Given the description of an element on the screen output the (x, y) to click on. 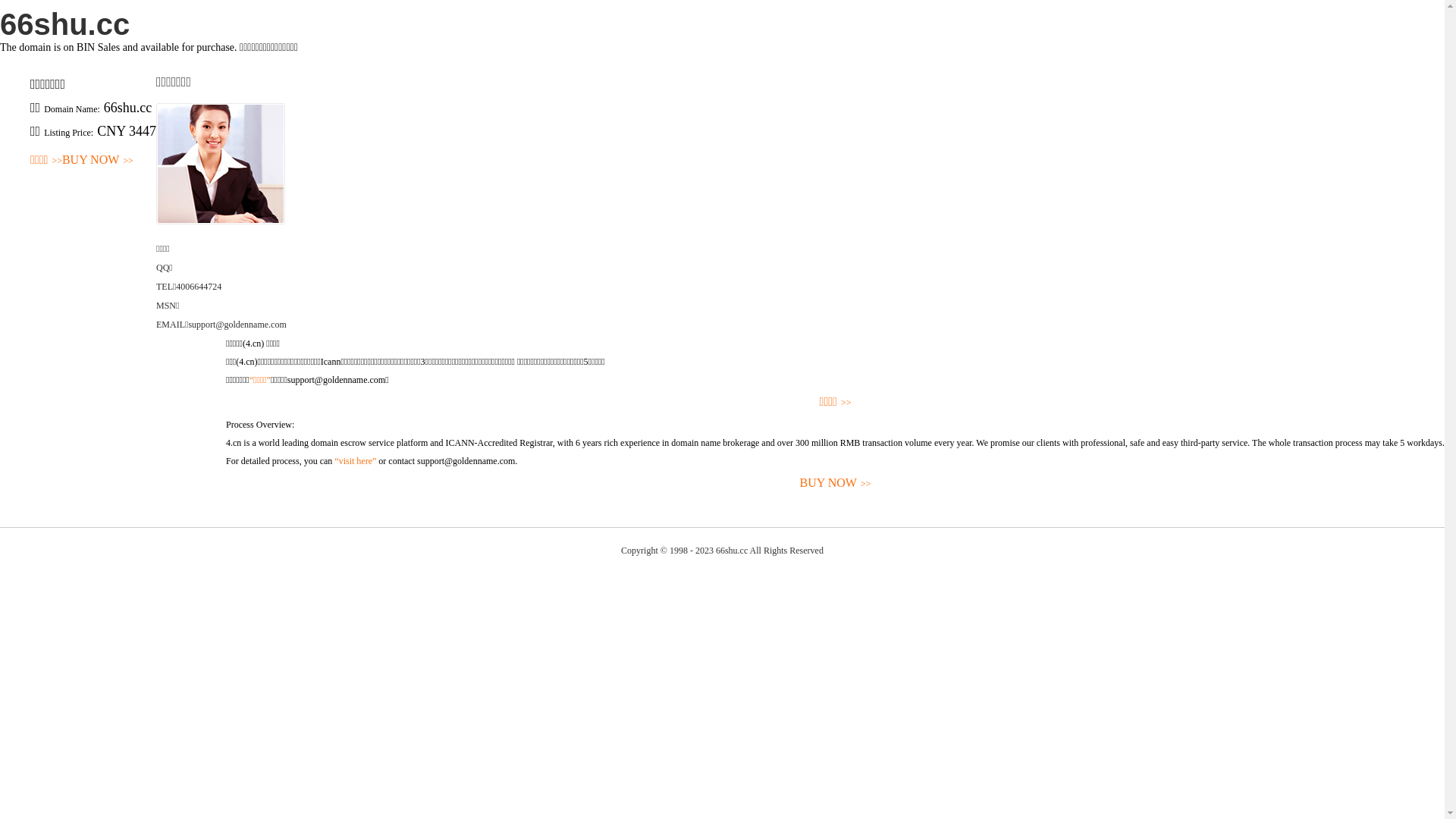
BUY NOW>> Element type: text (97, 160)
BUY NOW>> Element type: text (834, 483)
